Given the description of an element on the screen output the (x, y) to click on. 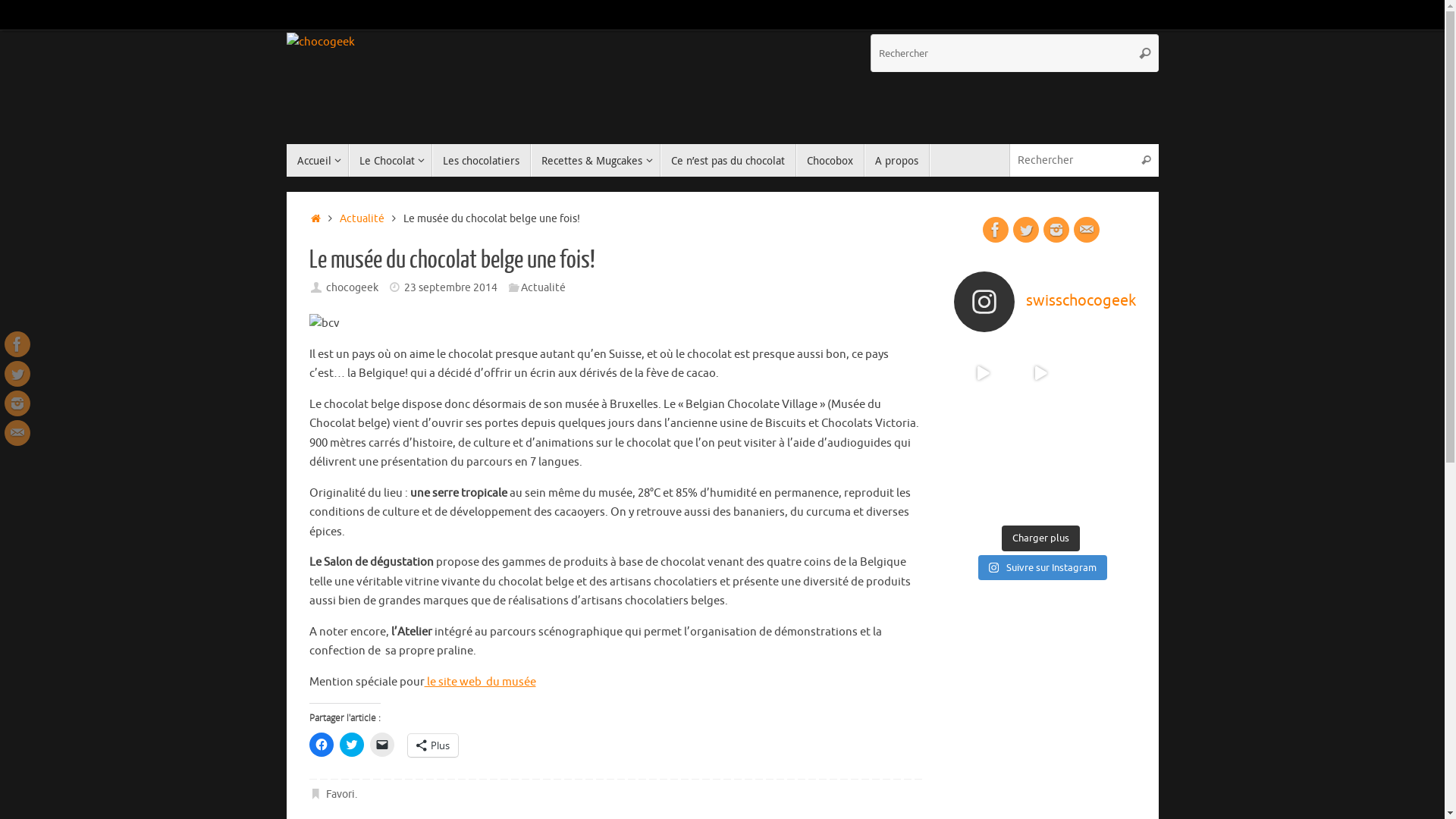
Suivre sur Instagram Element type: text (1042, 567)
Plus Element type: text (432, 745)
A propos Element type: text (896, 160)
Auteur/autrice  Element type: hover (316, 286)
 Ajouter le permalien aux favoris Element type: hover (316, 793)
Instagram Element type: hover (1056, 229)
Twitter Element type: hover (17, 373)
Twitter Element type: hover (1025, 229)
Les chocolatiers Element type: text (481, 160)
Contact Element type: hover (17, 432)
Favori Element type: text (340, 793)
Facebook Element type: hover (995, 229)
Date Element type: hover (394, 286)
Accueil Element type: text (316, 218)
Rechercher Element type: text (1144, 53)
chocogeek Element type: text (352, 286)
Instagram Element type: hover (17, 403)
Passer au contenu Element type: text (285, 167)
Chocobox Element type: text (830, 160)
swisschocogeek Element type: text (1040, 301)
Le Chocolat Element type: text (390, 160)
Charger plus Element type: text (1040, 538)
Recettes & Mugcakes Element type: text (594, 160)
chocogeek Element type: hover (320, 42)
Rechercher Element type: text (1146, 160)
23 septembre 2014 Element type: text (450, 286)
Contact Element type: hover (1086, 229)
Facebook Element type: hover (17, 344)
Accueil Element type: text (317, 160)
